Given the description of an element on the screen output the (x, y) to click on. 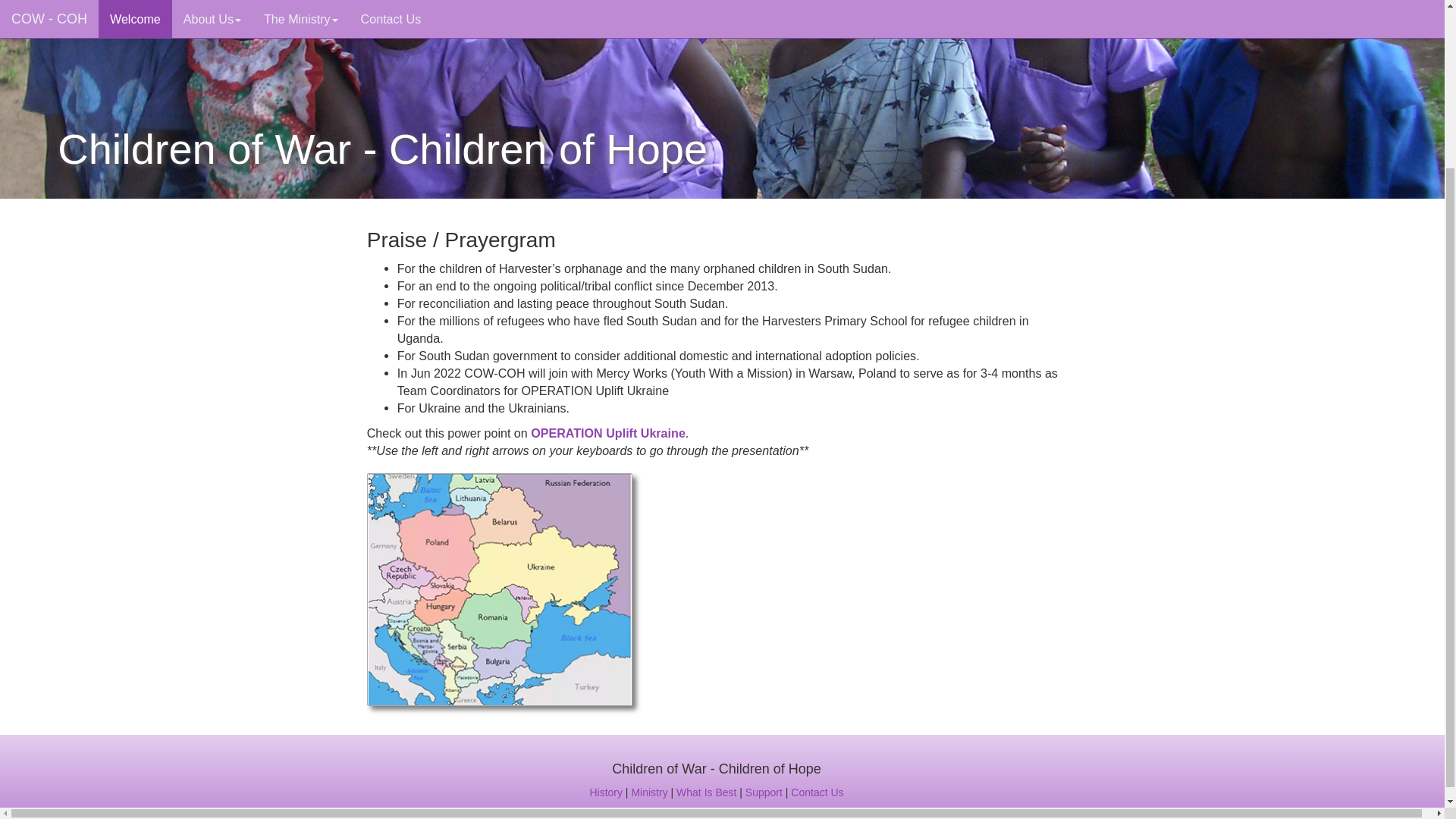
Support (764, 792)
History (606, 792)
Ministry (648, 792)
What Is Best (706, 792)
Contact Us (816, 792)
OPERATION Uplift Ukraine (608, 432)
